Given the description of an element on the screen output the (x, y) to click on. 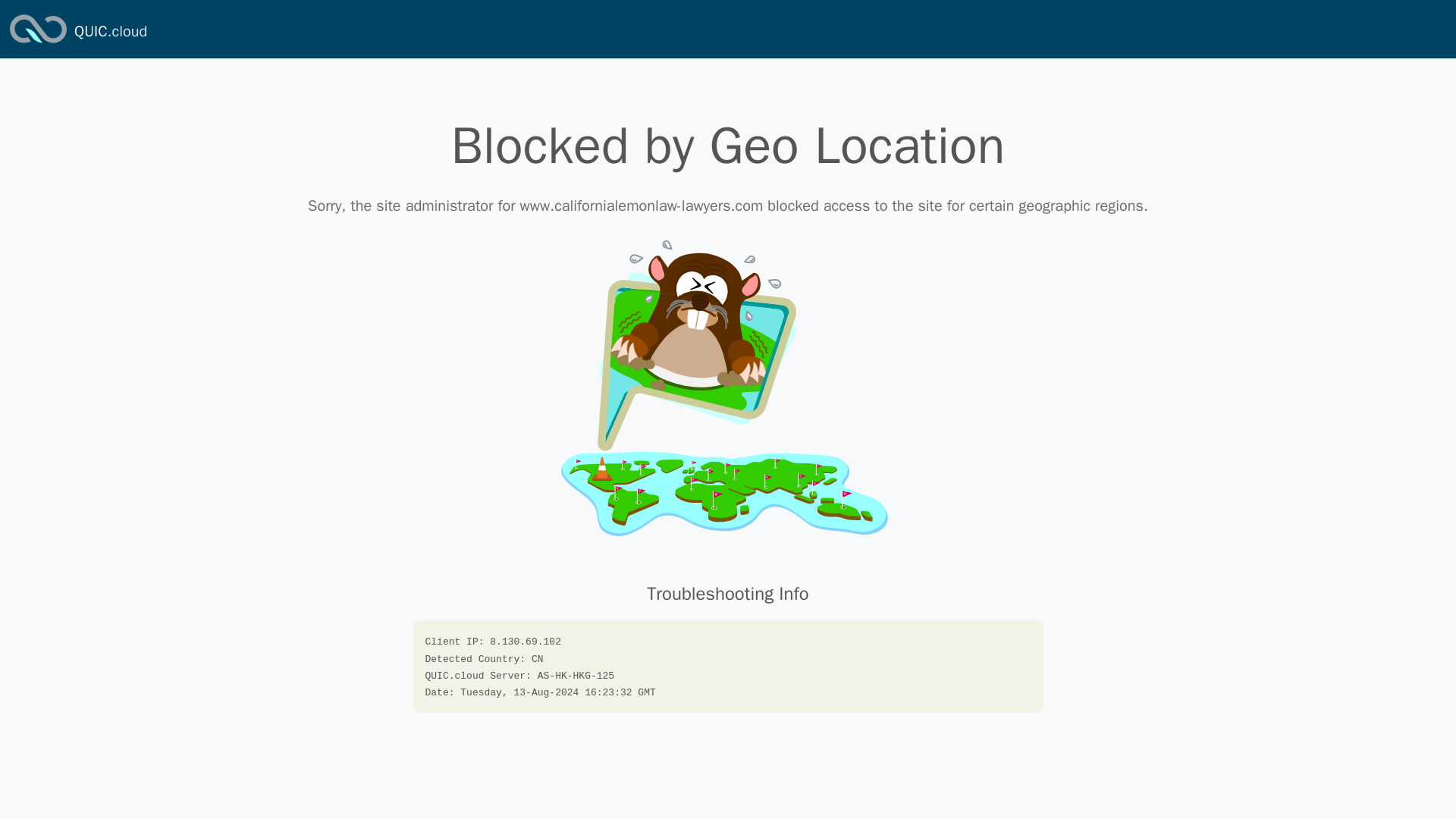
QUIC.cloud (110, 31)
QUIC.cloud (37, 43)
QUIC.cloud (110, 31)
